Given the description of an element on the screen output the (x, y) to click on. 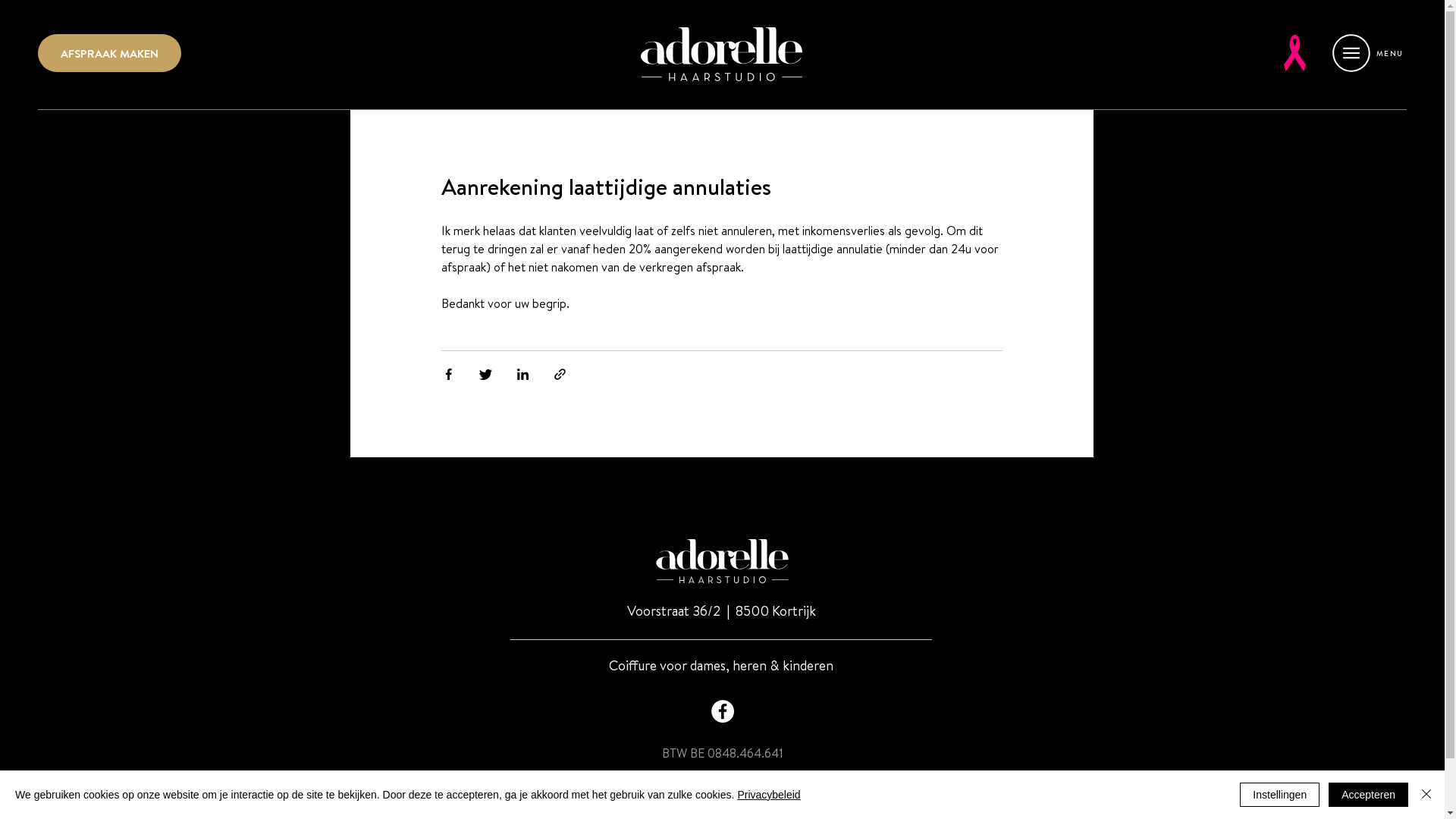
Accepteren Element type: text (1368, 794)
MENU Element type: text (1365, 52)
Instellingen Element type: text (1279, 794)
BTW BE 0848.464.641 Element type: text (721, 752)
Coiffure voor dames, heren & kinderen Element type: text (720, 664)
AFSPRAAK MAKEN Element type: text (109, 53)
Privacybeleid Element type: text (768, 794)
